Given the description of an element on the screen output the (x, y) to click on. 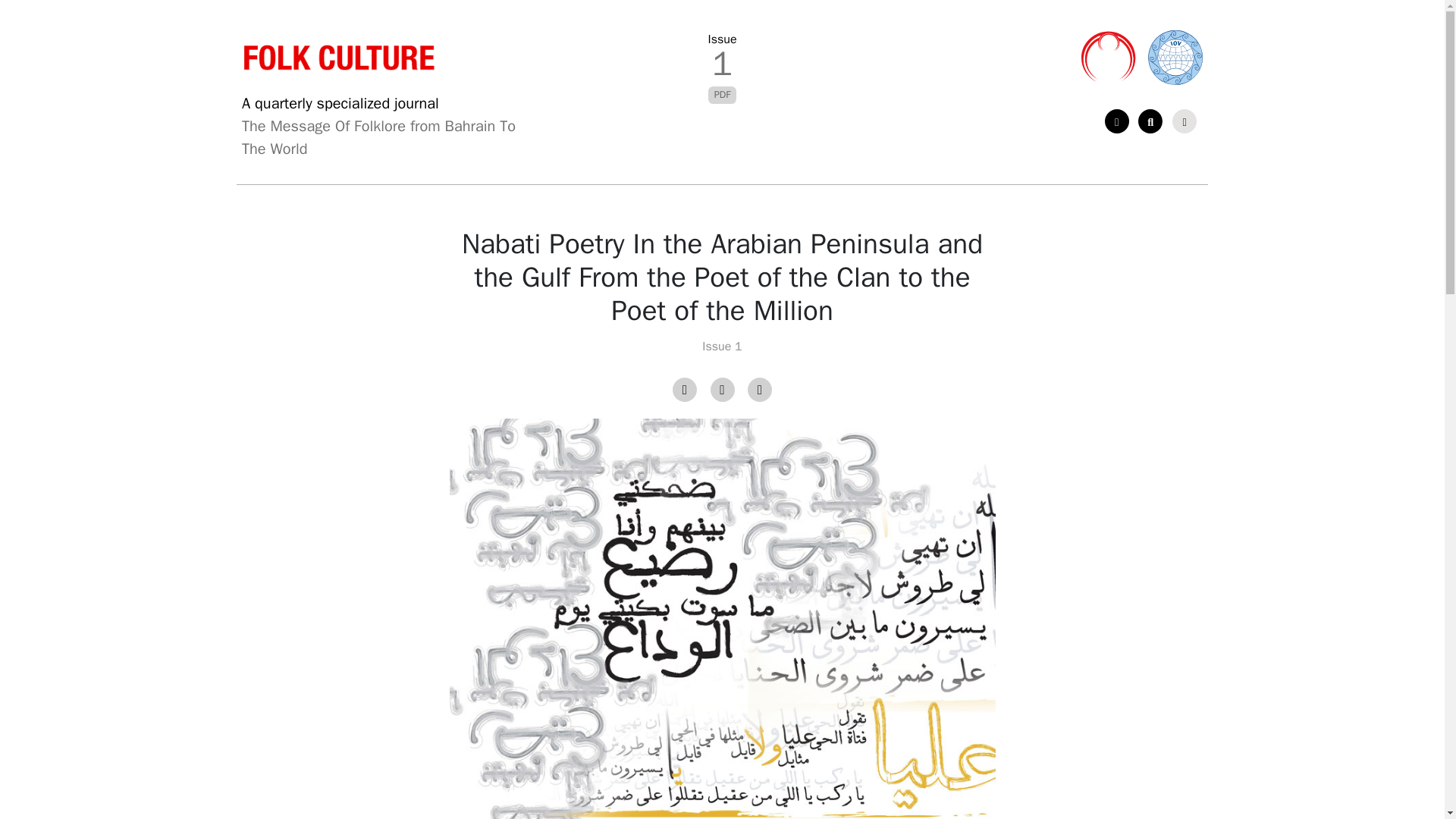
PDF (721, 94)
